Given the description of an element on the screen output the (x, y) to click on. 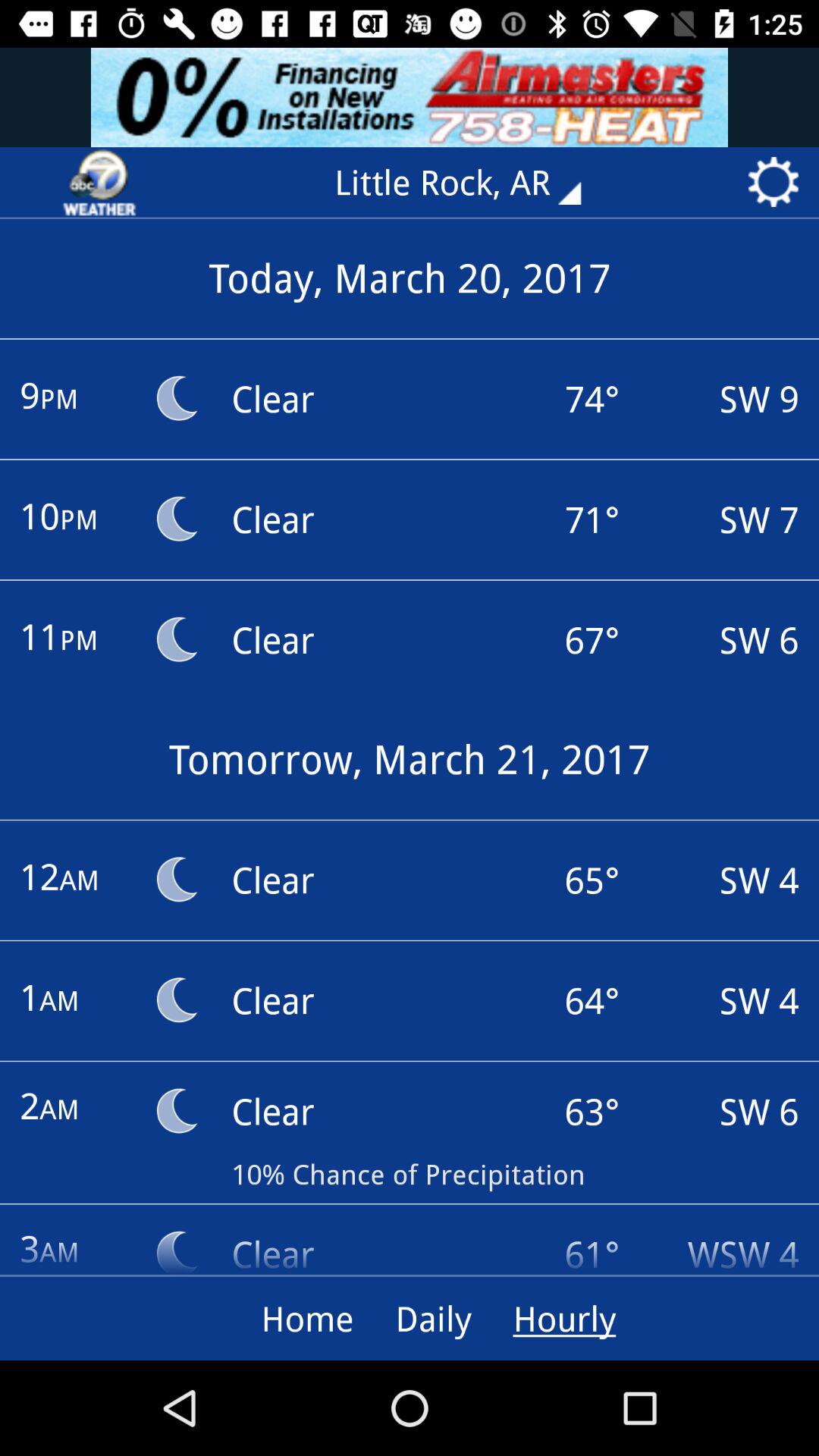
advertisement (409, 97)
